Given the description of an element on the screen output the (x, y) to click on. 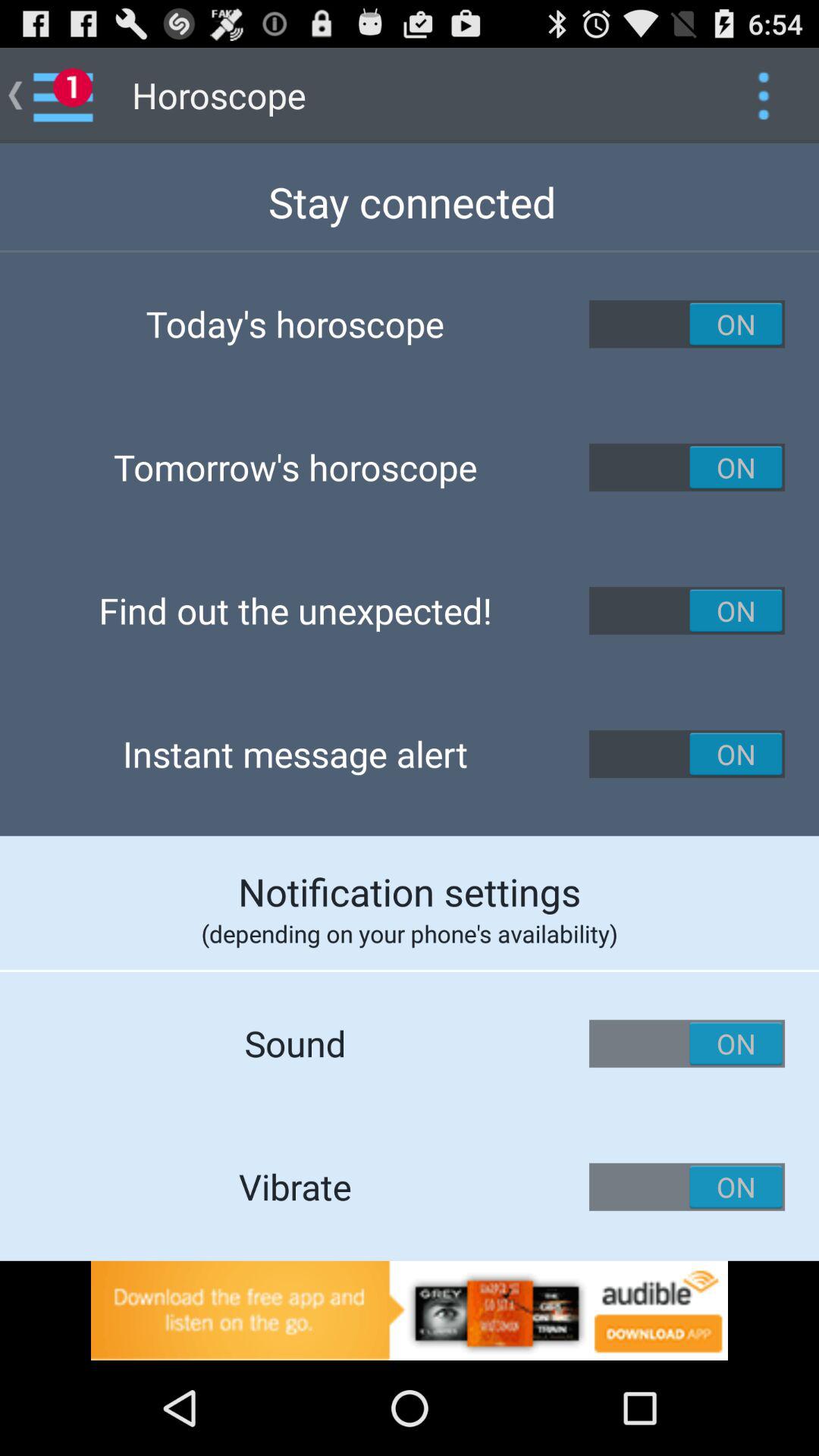
toggle tomorrow 's horoscope notification (686, 467)
